Given the description of an element on the screen output the (x, y) to click on. 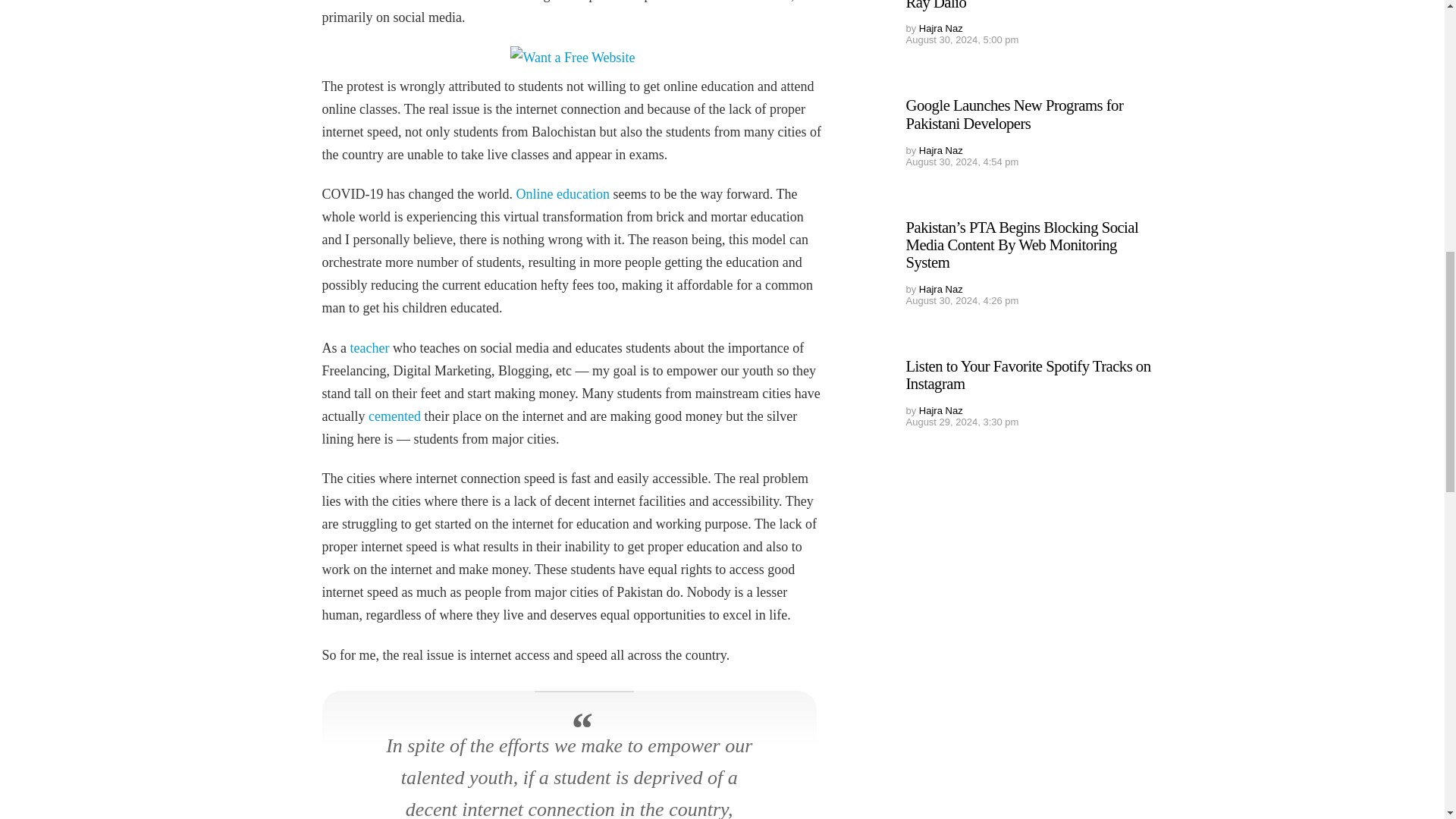
Posts by Hajra Naz (940, 288)
Posts by Hajra Naz (940, 150)
Posts by Hajra Naz (940, 28)
Want a Free Website (572, 56)
Harvard Free Online Courses (561, 193)
Posts by Hajra Naz (940, 410)
Hisham Sarwar YouTube (370, 347)
Digiskills free training (394, 416)
